Given the description of an element on the screen output the (x, y) to click on. 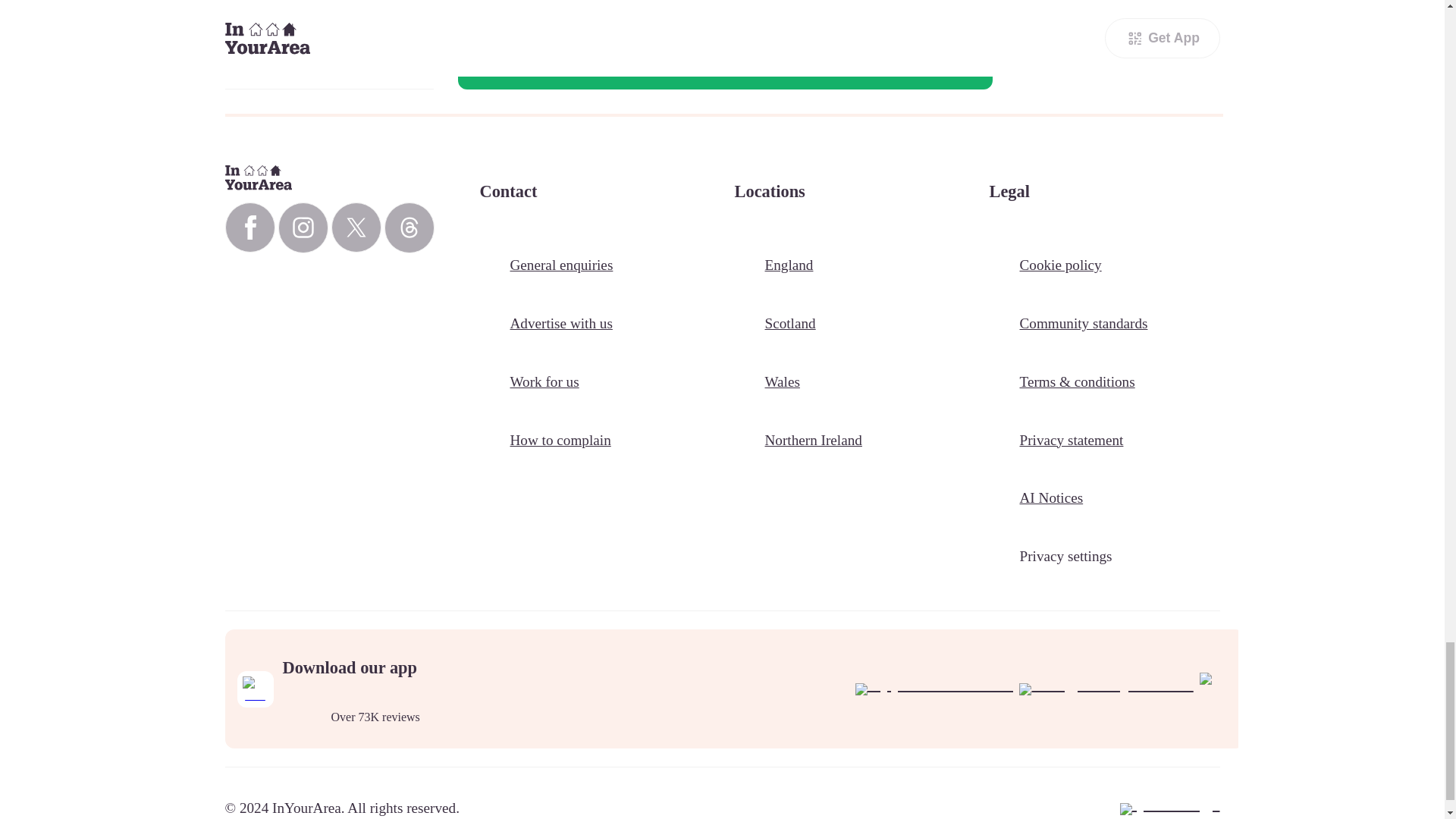
InYourArea X (355, 227)
InYourArea Facebook (249, 227)
InYourArea Instagram (302, 227)
InYourArea Threads (408, 227)
